Given the description of an element on the screen output the (x, y) to click on. 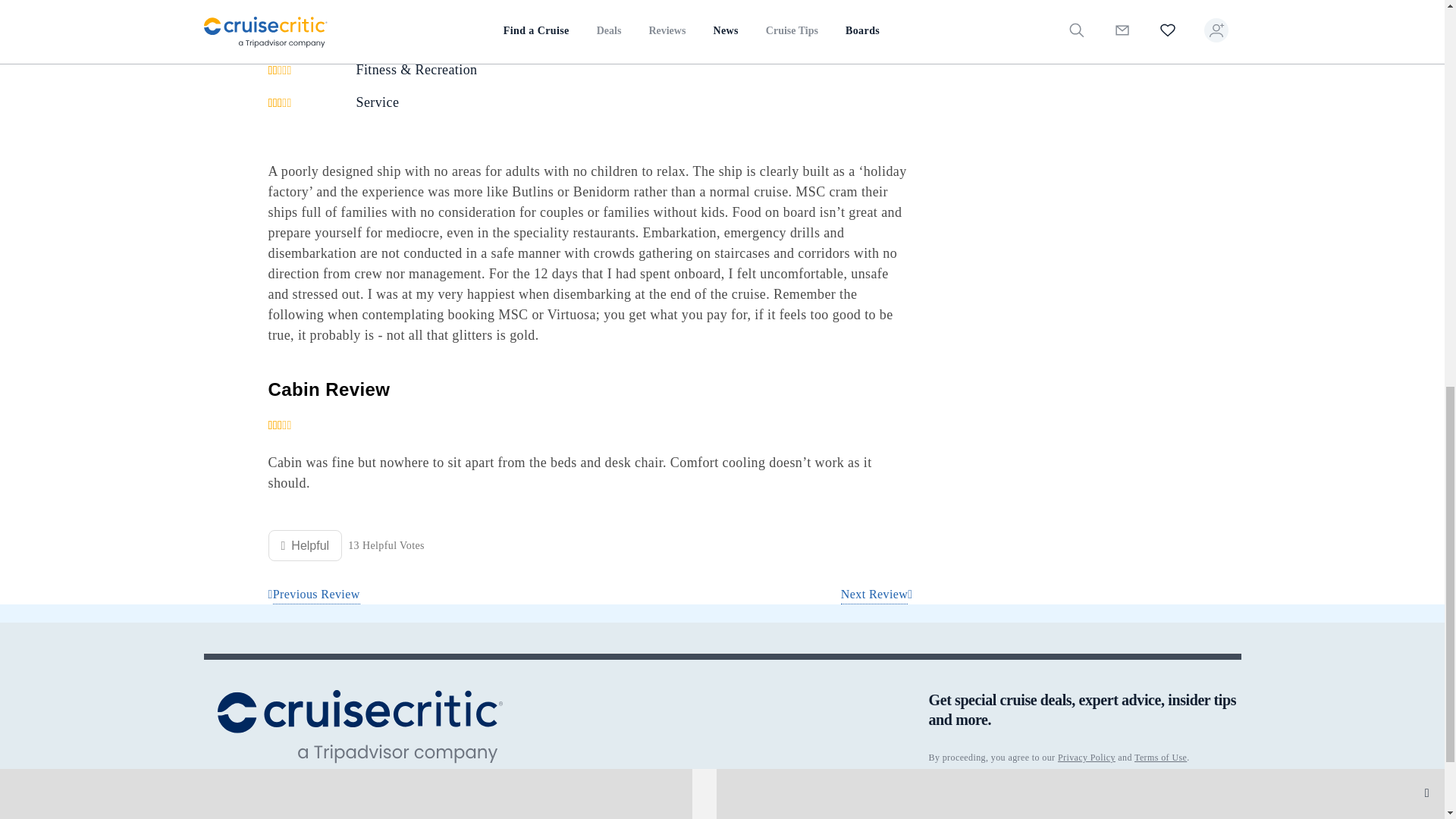
Previous Review (313, 594)
Next Review (876, 594)
Terms of Use (1160, 757)
Privacy Policy (1086, 757)
Helpful (304, 545)
